Given the description of an element on the screen output the (x, y) to click on. 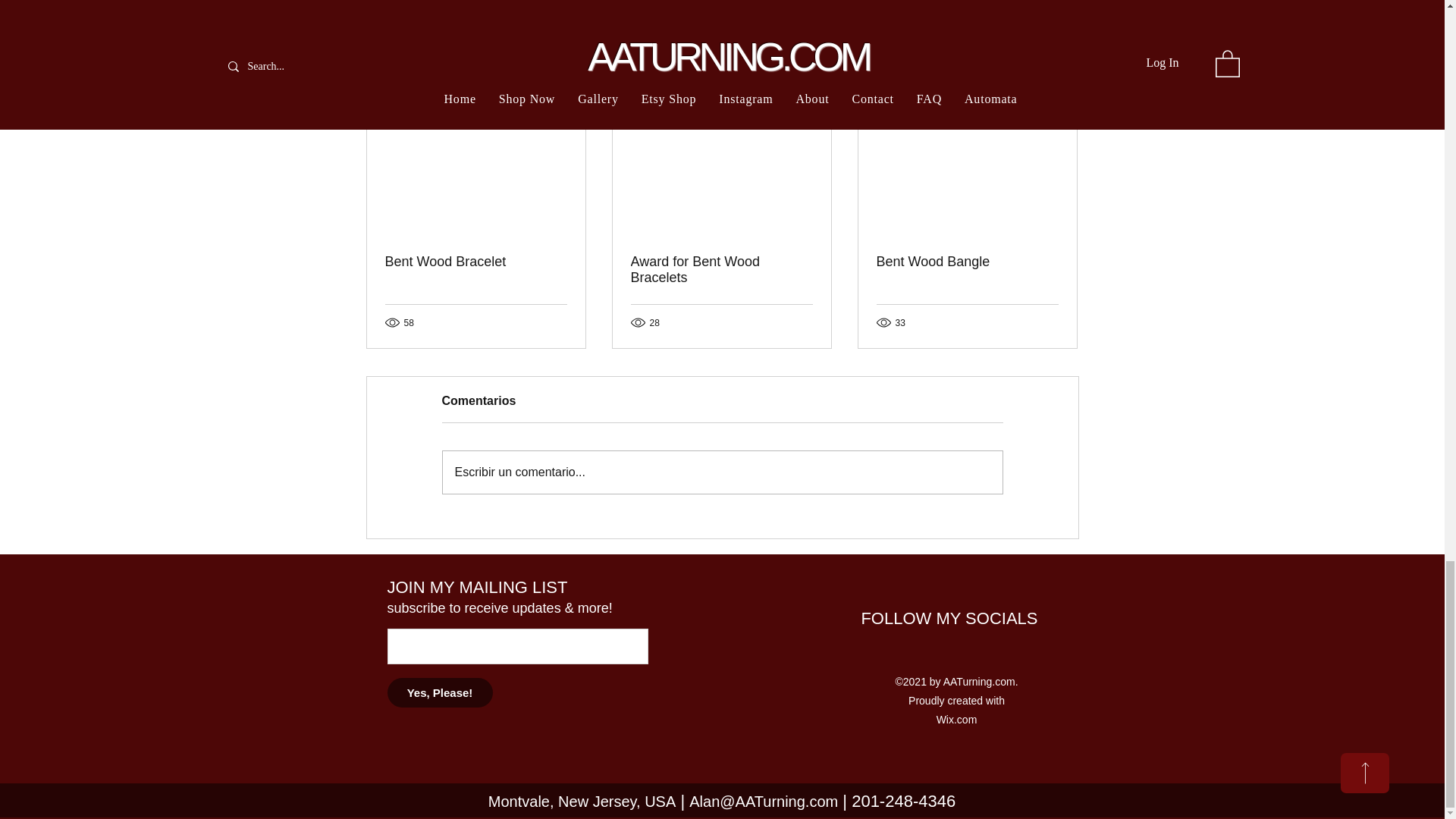
See All (1061, 86)
